Given the description of an element on the screen output the (x, y) to click on. 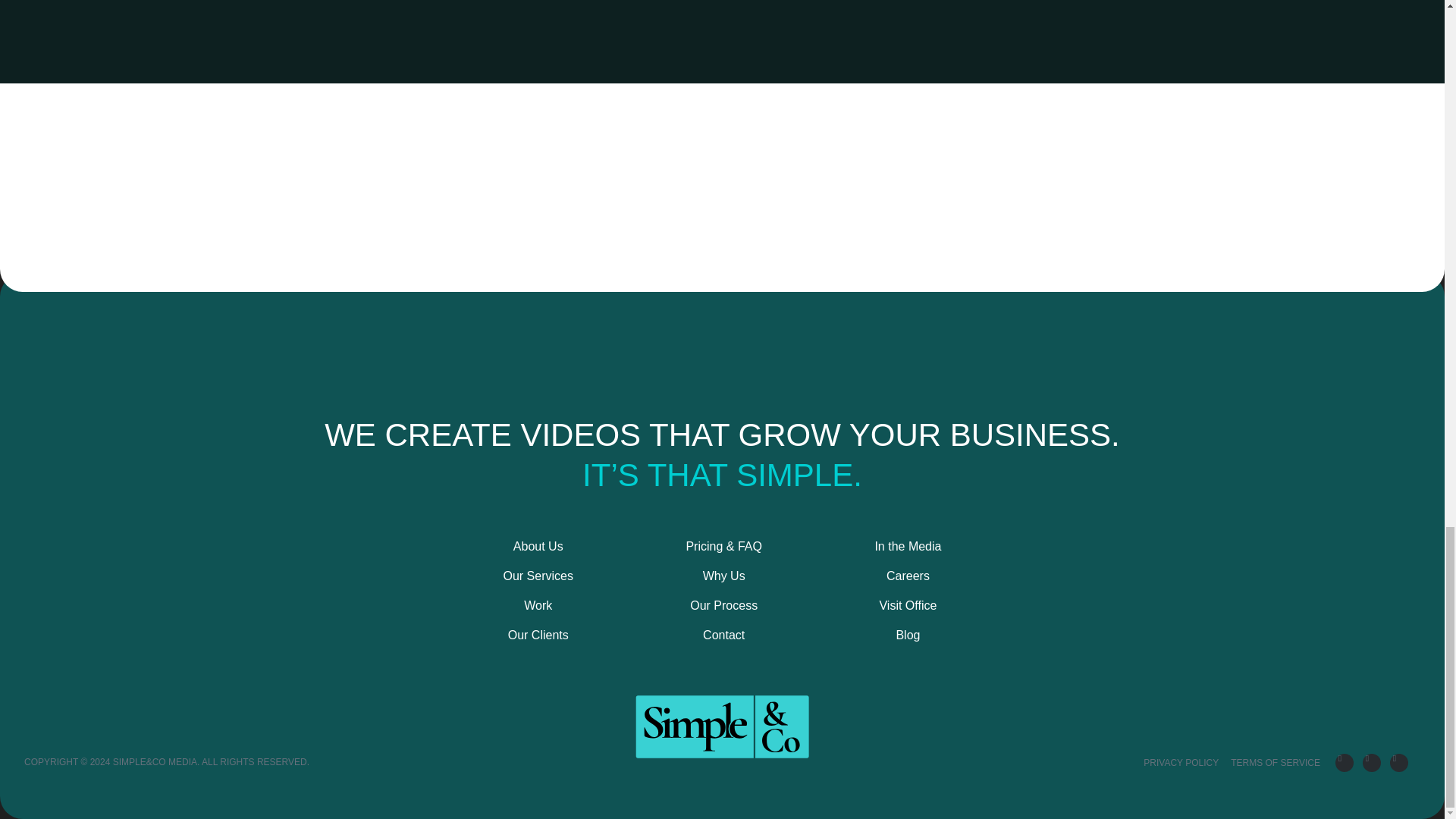
About Us (537, 546)
Why Us (723, 575)
In the Media (907, 546)
Blog (907, 635)
Contact (723, 635)
Our Process (723, 605)
Our Services (537, 575)
Our Clients (537, 635)
Careers (907, 575)
Visit Office (907, 605)
PRIVACY POLICY (1180, 762)
Work (537, 605)
